Given the description of an element on the screen output the (x, y) to click on. 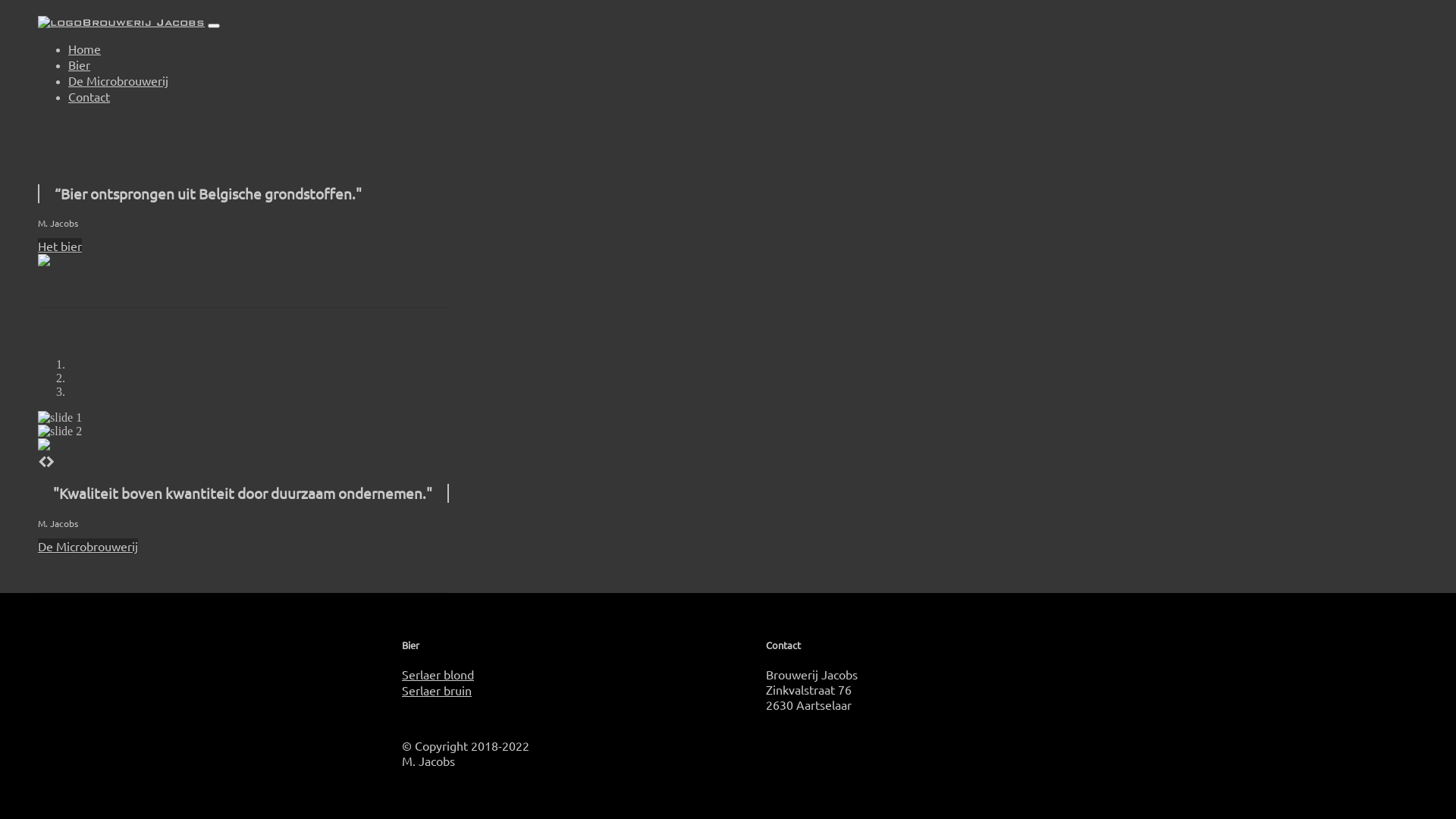
De Microbrouwerij Element type: text (87, 545)
Serlaer bruin Element type: text (545, 689)
Home Element type: text (84, 48)
Bier Element type: text (79, 64)
Contact Element type: text (88, 95)
Het bier Element type: text (59, 245)
Serlaer blond Element type: text (545, 673)
De Microbrouwerij Element type: text (118, 79)
Next Element type: text (50, 460)
Brouwerij Jacobs Element type: text (120, 21)
Previous Element type: text (41, 460)
